Given the description of an element on the screen output the (x, y) to click on. 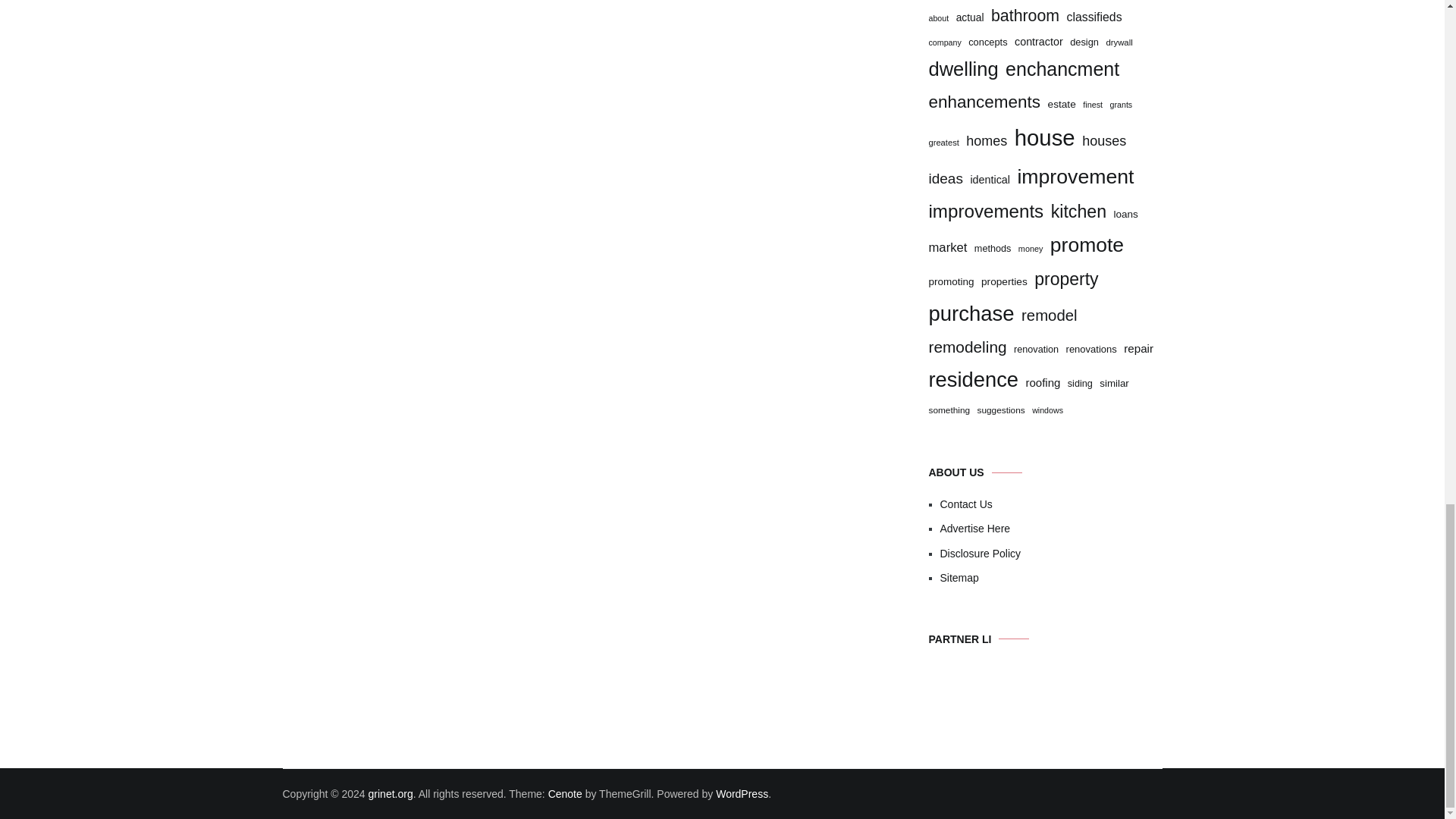
grinet.org (390, 793)
